Given the description of an element on the screen output the (x, y) to click on. 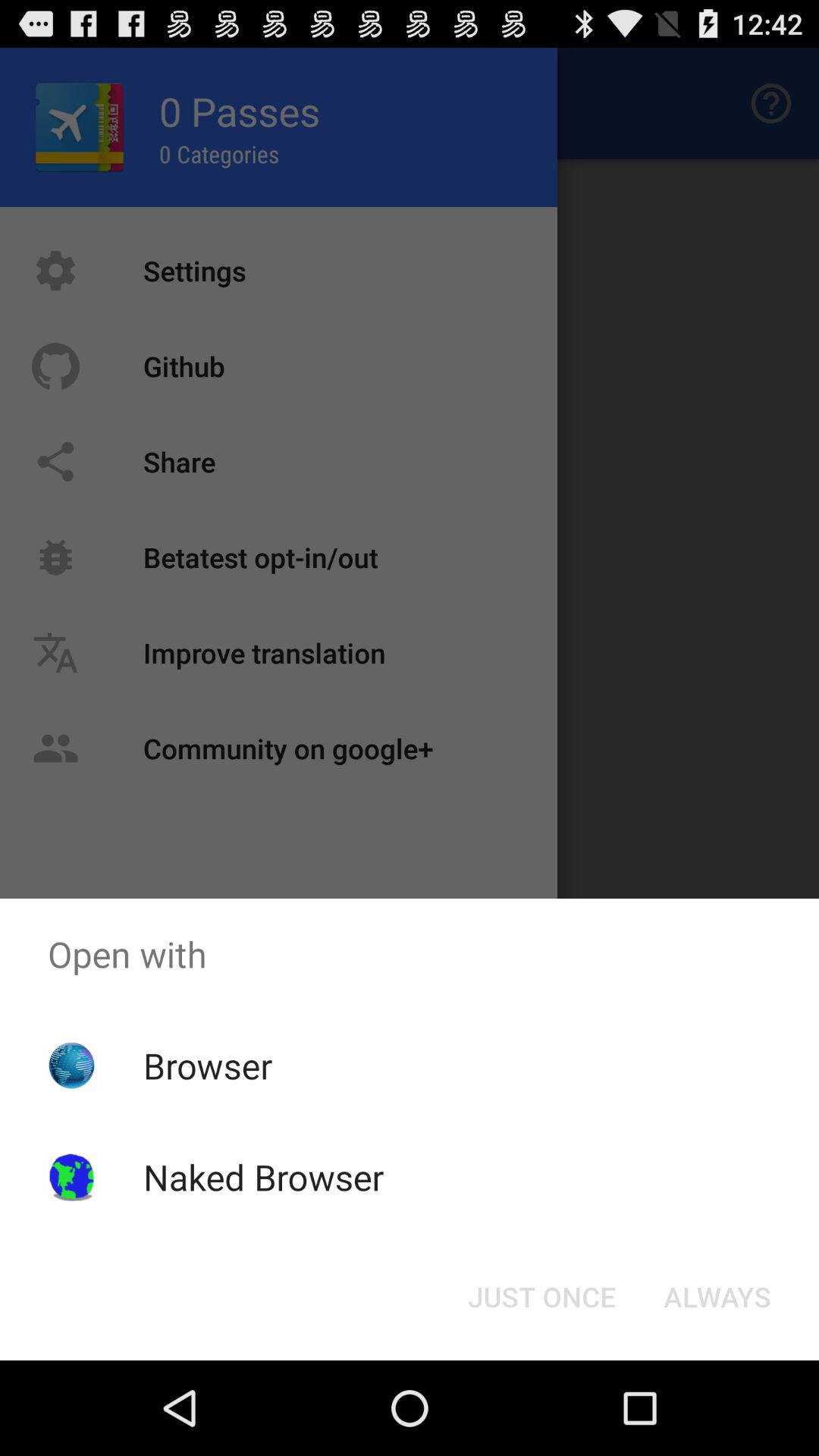
open the item below open with item (541, 1296)
